Given the description of an element on the screen output the (x, y) to click on. 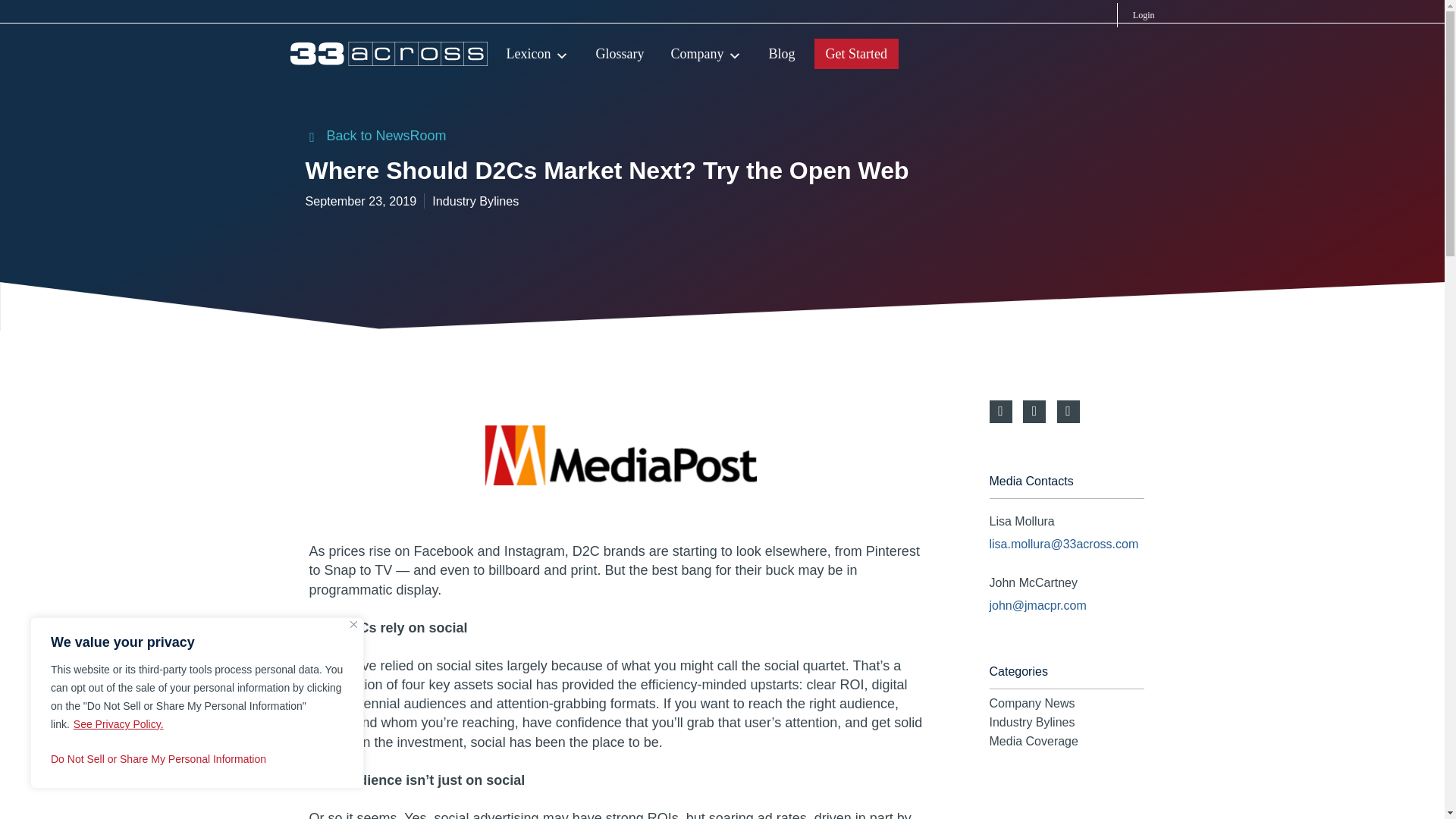
Lexicon (543, 53)
Do Not Sell or Share My Personal Information (196, 759)
Get Started (855, 53)
Company (711, 53)
Blog (786, 53)
33Across (389, 53)
Login (1135, 15)
See Privacy Policy. (118, 724)
Glossary (625, 53)
